Given the description of an element on the screen output the (x, y) to click on. 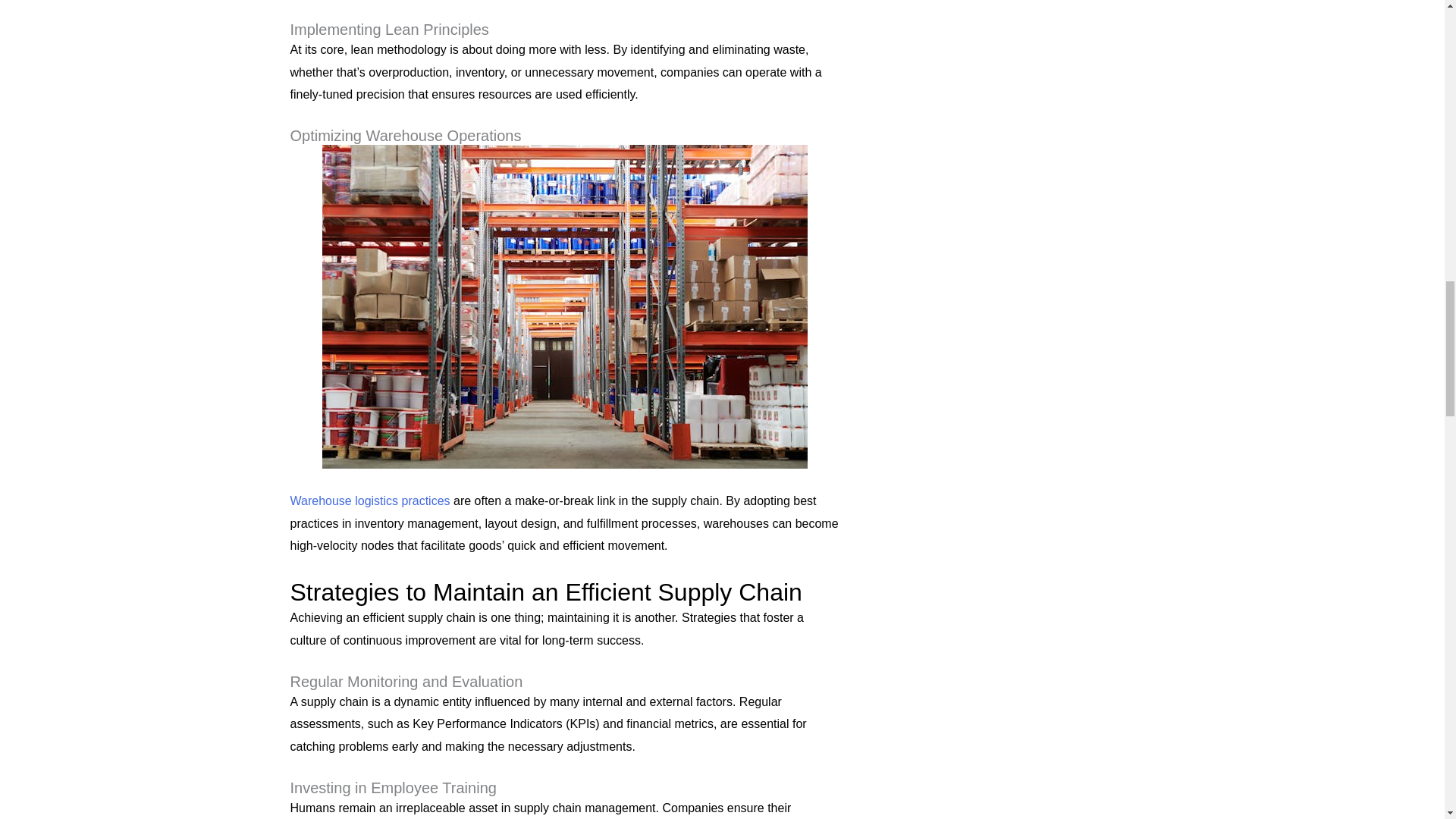
Warehouse logistics practices (369, 500)
